Given the description of an element on the screen output the (x, y) to click on. 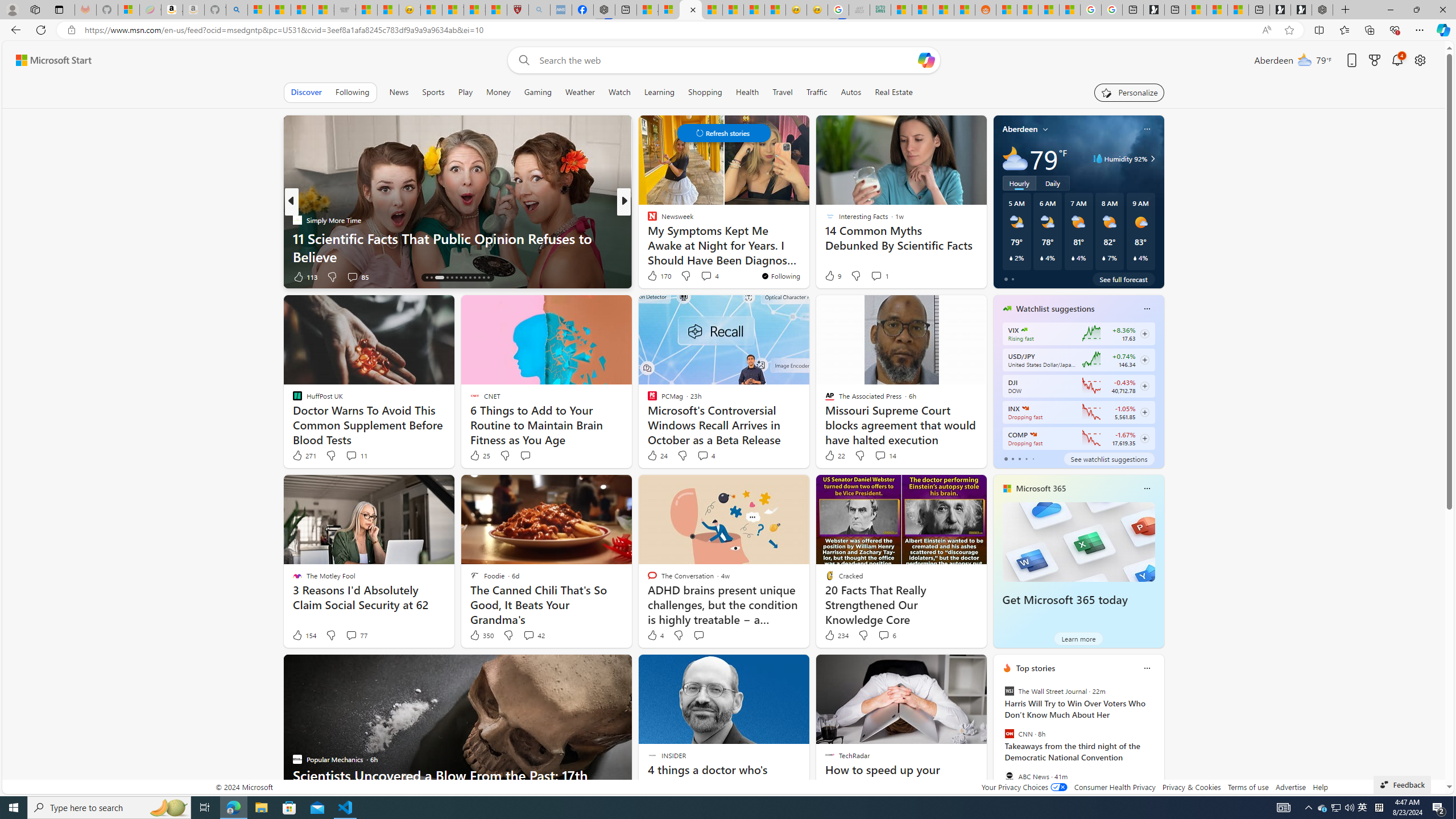
Fitness - MSN (732, 9)
View comments 73 Comment (703, 276)
See full forecast (1123, 278)
Class: weather-arrow-glyph (1152, 158)
22 Like (834, 455)
View comments 231 Comment (705, 276)
